Given the description of an element on the screen output the (x, y) to click on. 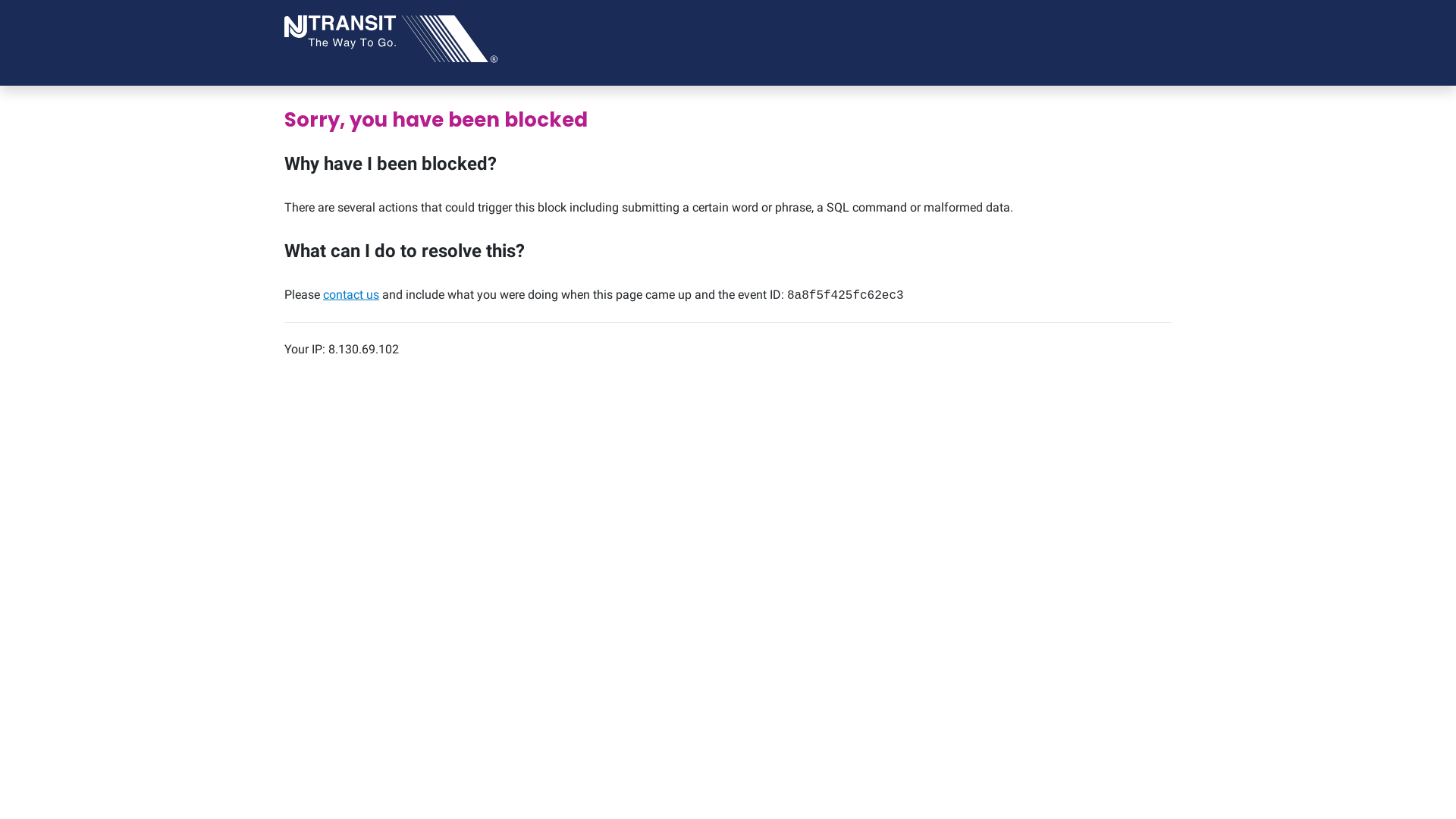
contact us (350, 294)
NJ TRANSIT Logo (390, 38)
